Given the description of an element on the screen output the (x, y) to click on. 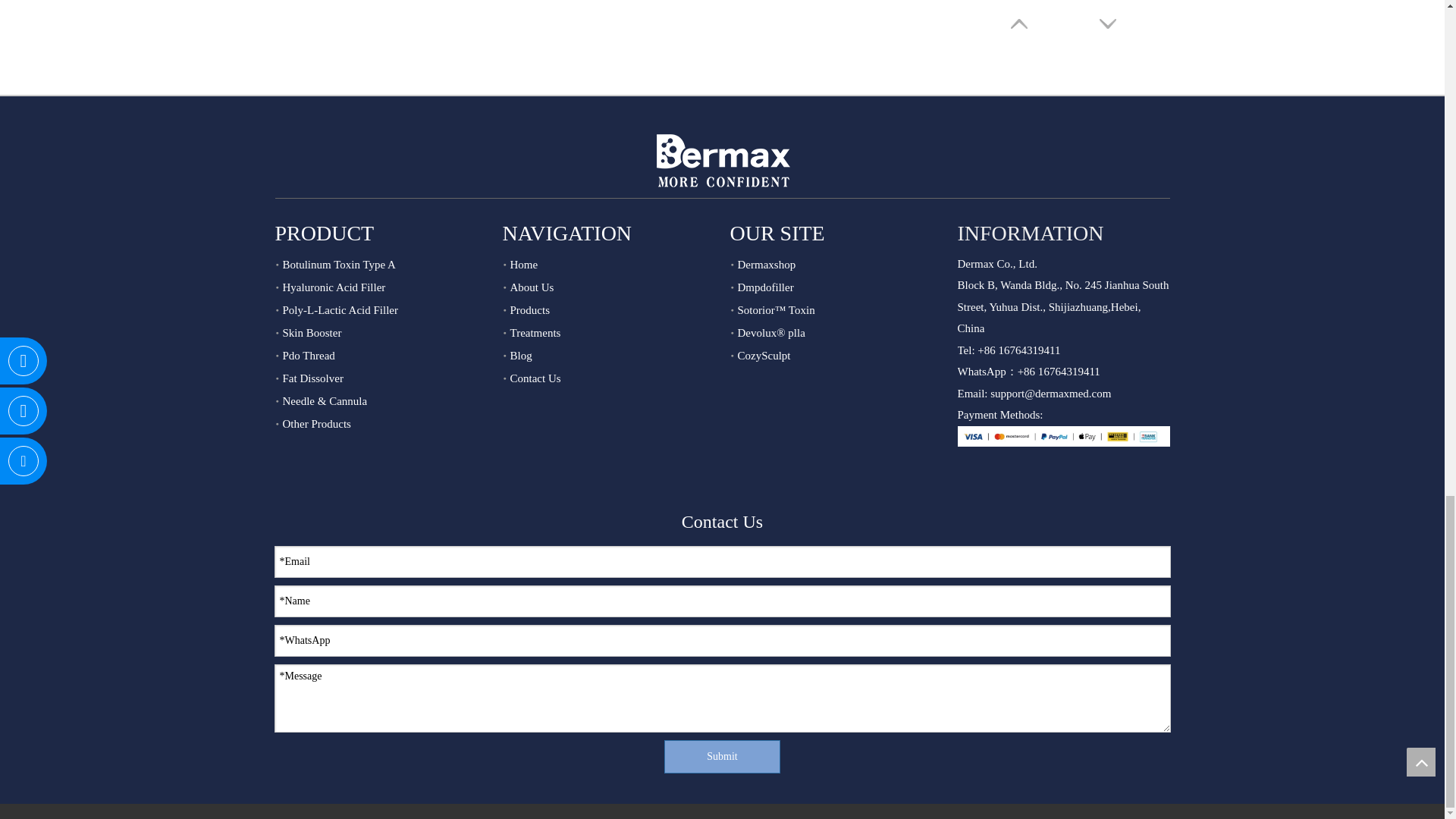
Hyaluronic Acid Filler (333, 287)
About Us (531, 287)
Botulinum Toxin Type A (338, 264)
Other Products (316, 423)
Skin Booster (311, 332)
Products (529, 309)
Treatments (534, 332)
Poly-L-Lactic Acid Filler (339, 309)
Home (523, 264)
Pdo Thread (308, 355)
